Given the description of an element on the screen output the (x, y) to click on. 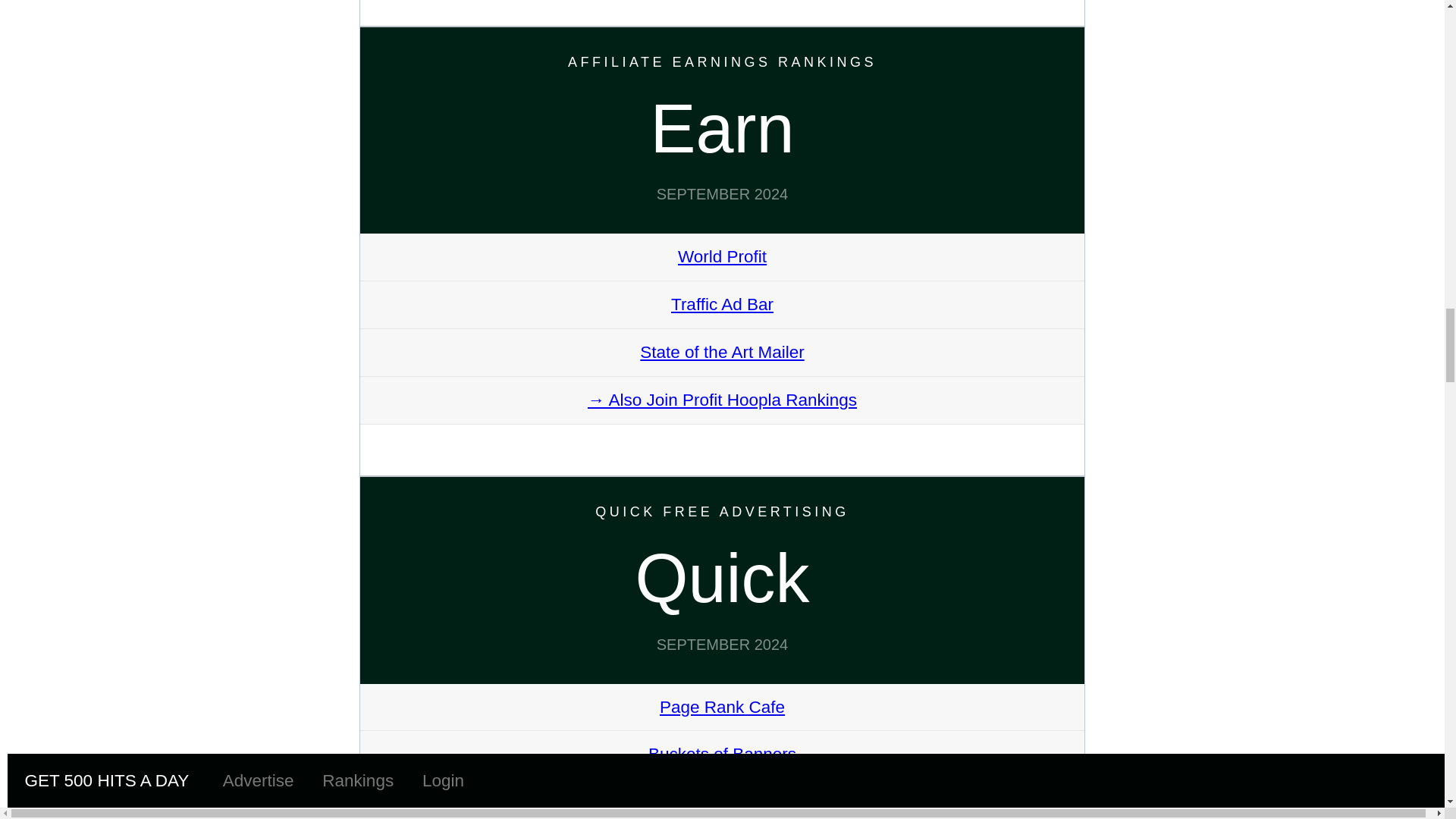
State of the Art Mailer (721, 352)
Page Rank Cafe (721, 706)
Just Good Traffic (722, 801)
Traffic Ad Bar (722, 303)
Buckets of Banners (721, 753)
World Profit (722, 256)
